Given the description of an element on the screen output the (x, y) to click on. 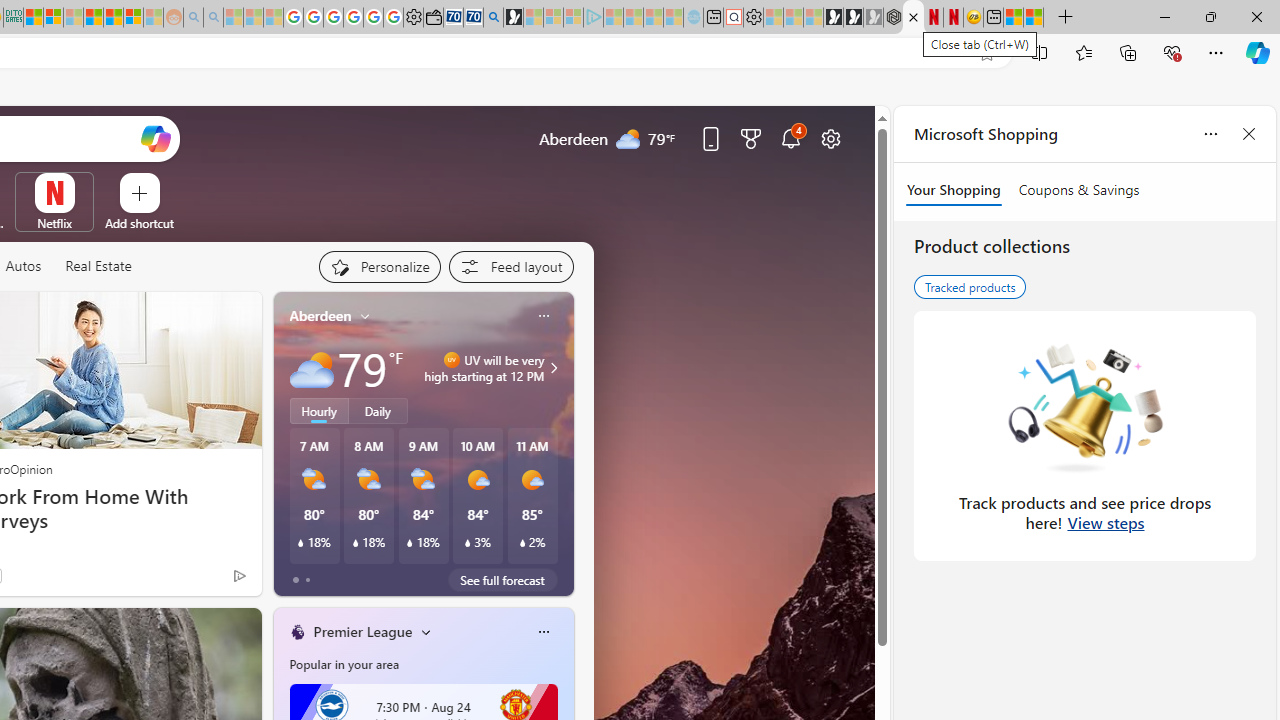
tab-1 (306, 579)
Feed settings (510, 266)
My location (365, 315)
Wildlife - MSN (1012, 17)
Class: weather-arrow-glyph (554, 367)
Premier League (363, 631)
